Given the description of an element on the screen output the (x, y) to click on. 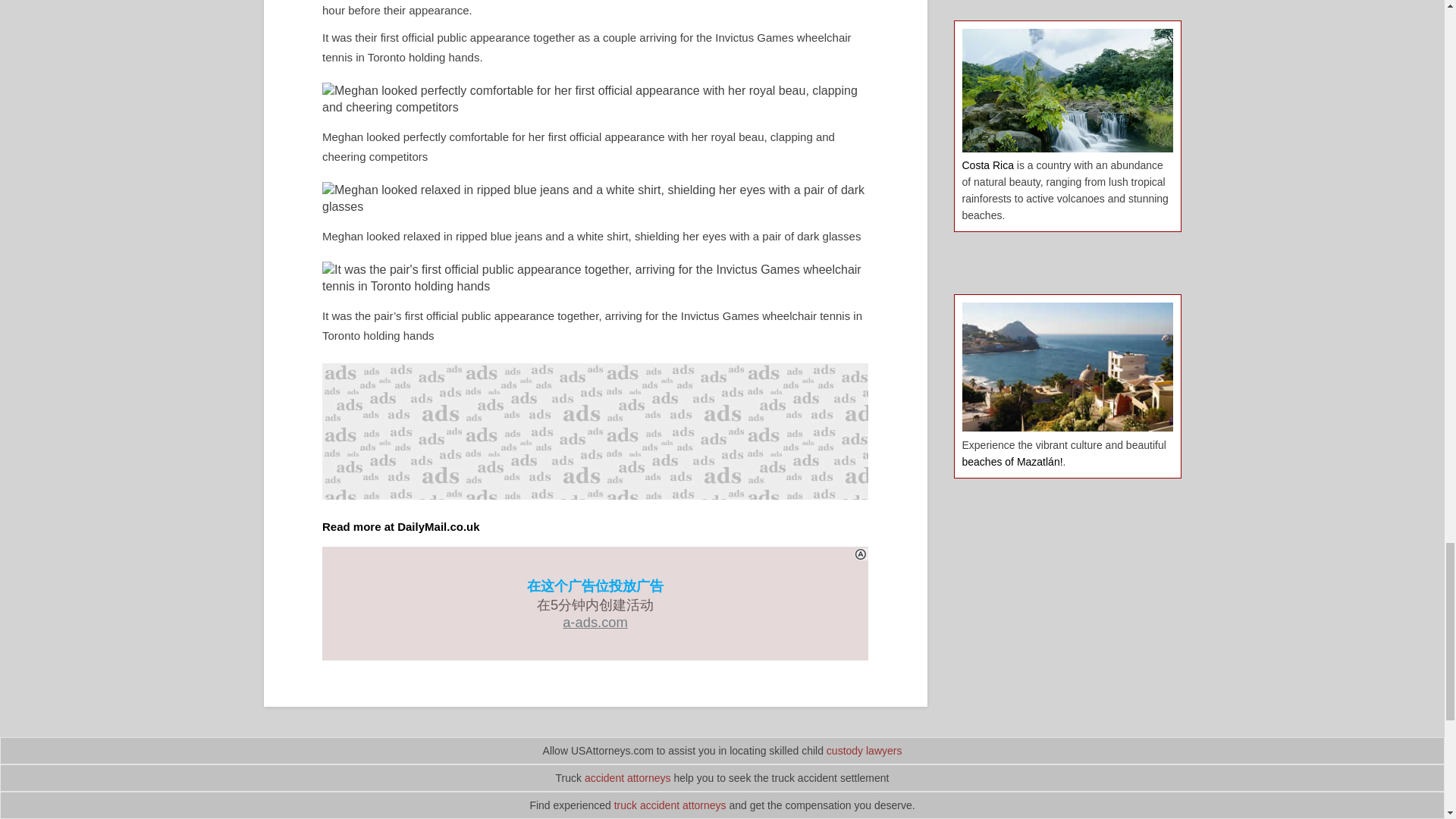
Read more at DailyMail.co.uk (400, 526)
Costa Rica (986, 164)
truck accident attorneys (670, 805)
accident attorneys (628, 777)
custody lawyers (864, 750)
